Given the description of an element on the screen output the (x, y) to click on. 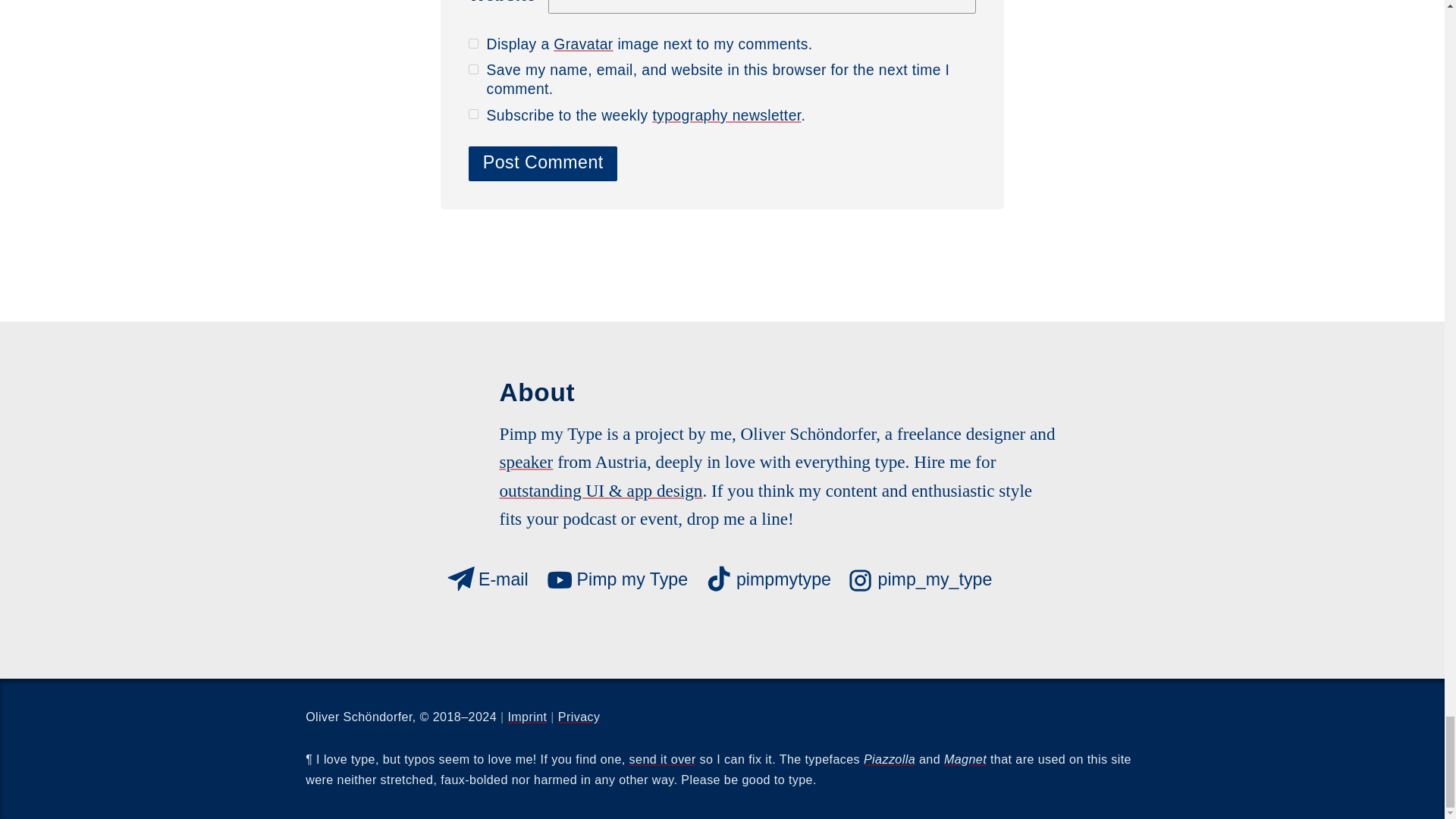
yes (473, 69)
true (473, 43)
Post Comment (542, 163)
1 (473, 113)
Gravatar (582, 44)
Post Comment (542, 163)
speaker (526, 461)
typography newsletter (726, 115)
